Given the description of an element on the screen output the (x, y) to click on. 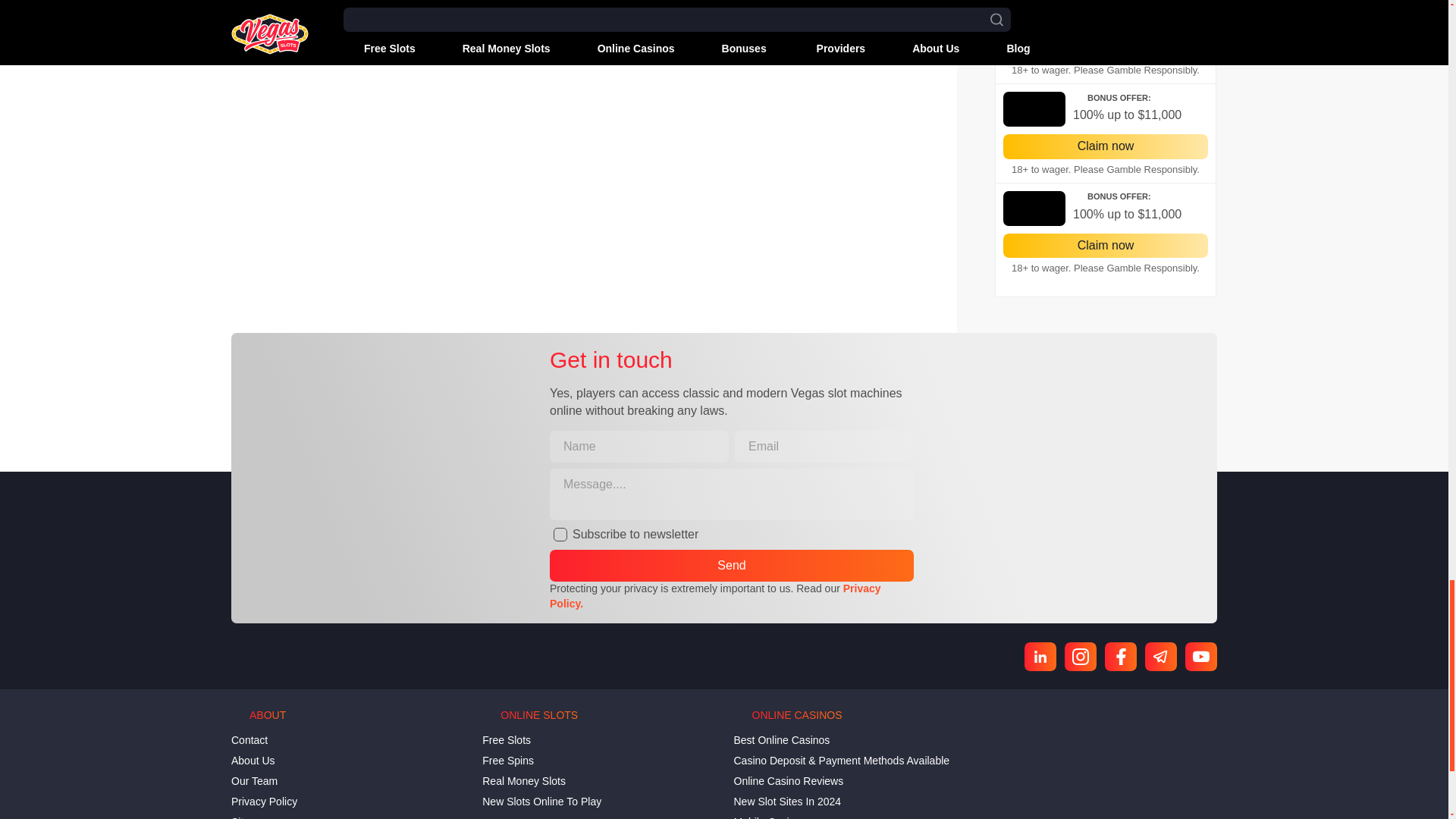
Send (732, 565)
